Given the description of an element on the screen output the (x, y) to click on. 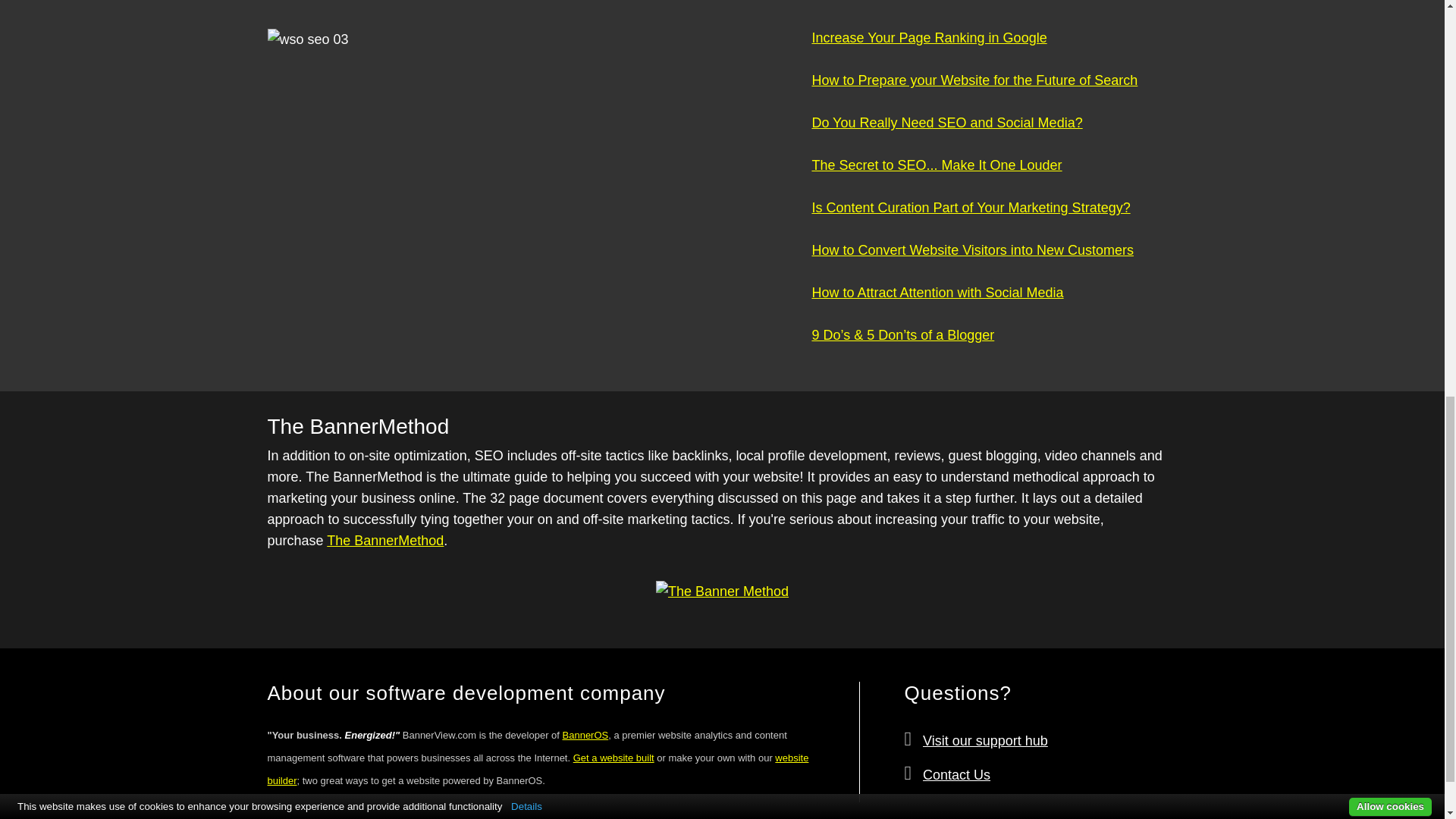
Visit our support hub (985, 740)
How to Attract Attention with Social Media (936, 303)
The BannerMethod (385, 540)
Increase Your Page Ranking in Google (928, 37)
How to Prepare your Website for the Future of Search (973, 90)
Is Content Curation Part of Your Marketing Strategy? (969, 217)
How to Convert Website Visitors into New Customers (972, 260)
The Secret to SEO... Make It One Louder (935, 176)
Contact Us (956, 774)
Do You Really Need SEO and Social Media? (945, 133)
